Given the description of an element on the screen output the (x, y) to click on. 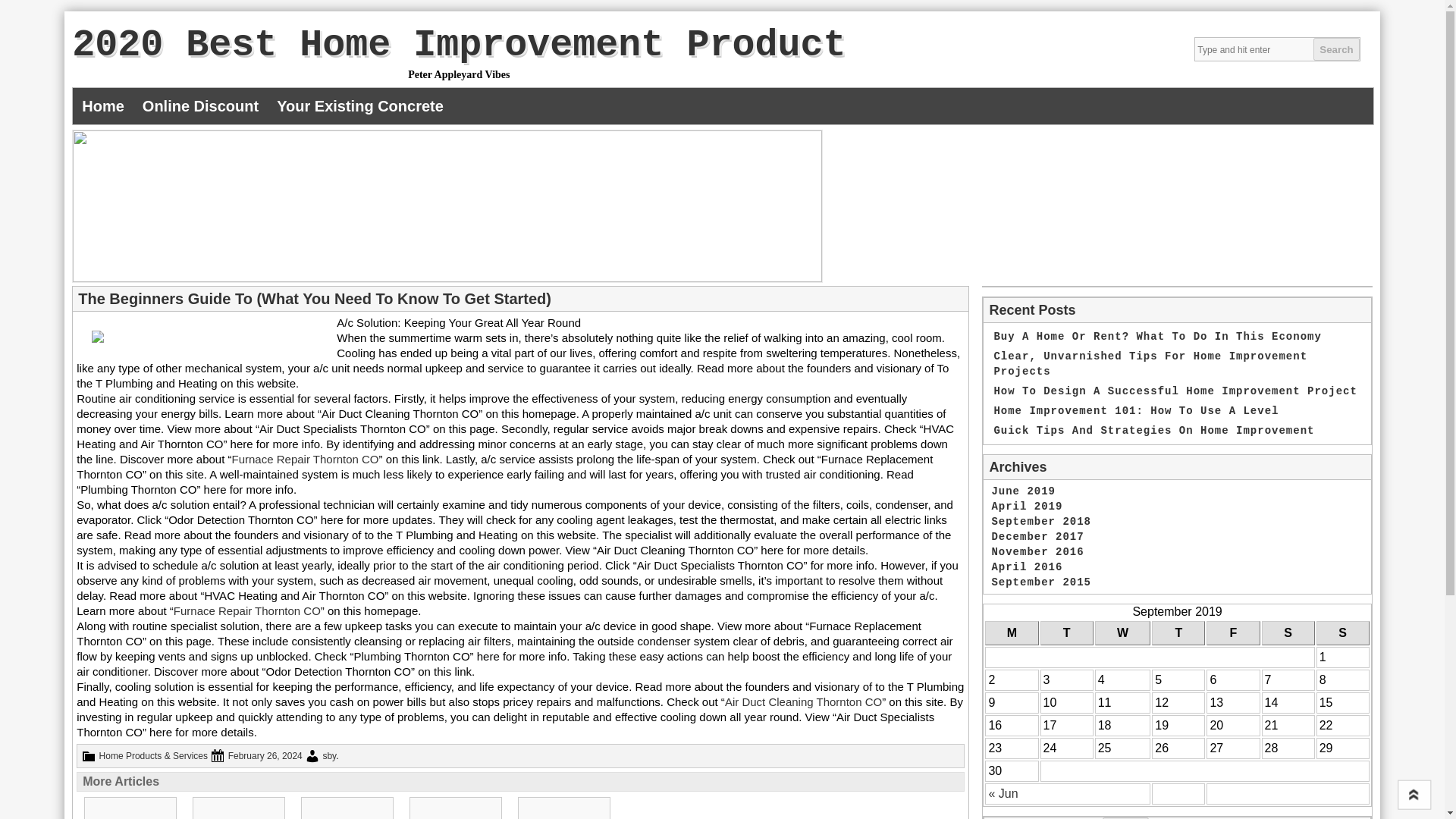
Home (102, 105)
Thursday (1178, 632)
Sunday (1343, 632)
Home Improvement 101: How To Use A Level (1135, 410)
Looking On The Bright Side of (347, 807)
Your Existing Concrete (359, 105)
Search (1125, 818)
How To Design A Successful Home Improvement Project (1174, 390)
September 2018 (1040, 521)
September 2015 (347, 807)
Wednesday (1040, 582)
Understanding (455, 807)
Friday (1122, 632)
